Given the description of an element on the screen output the (x, y) to click on. 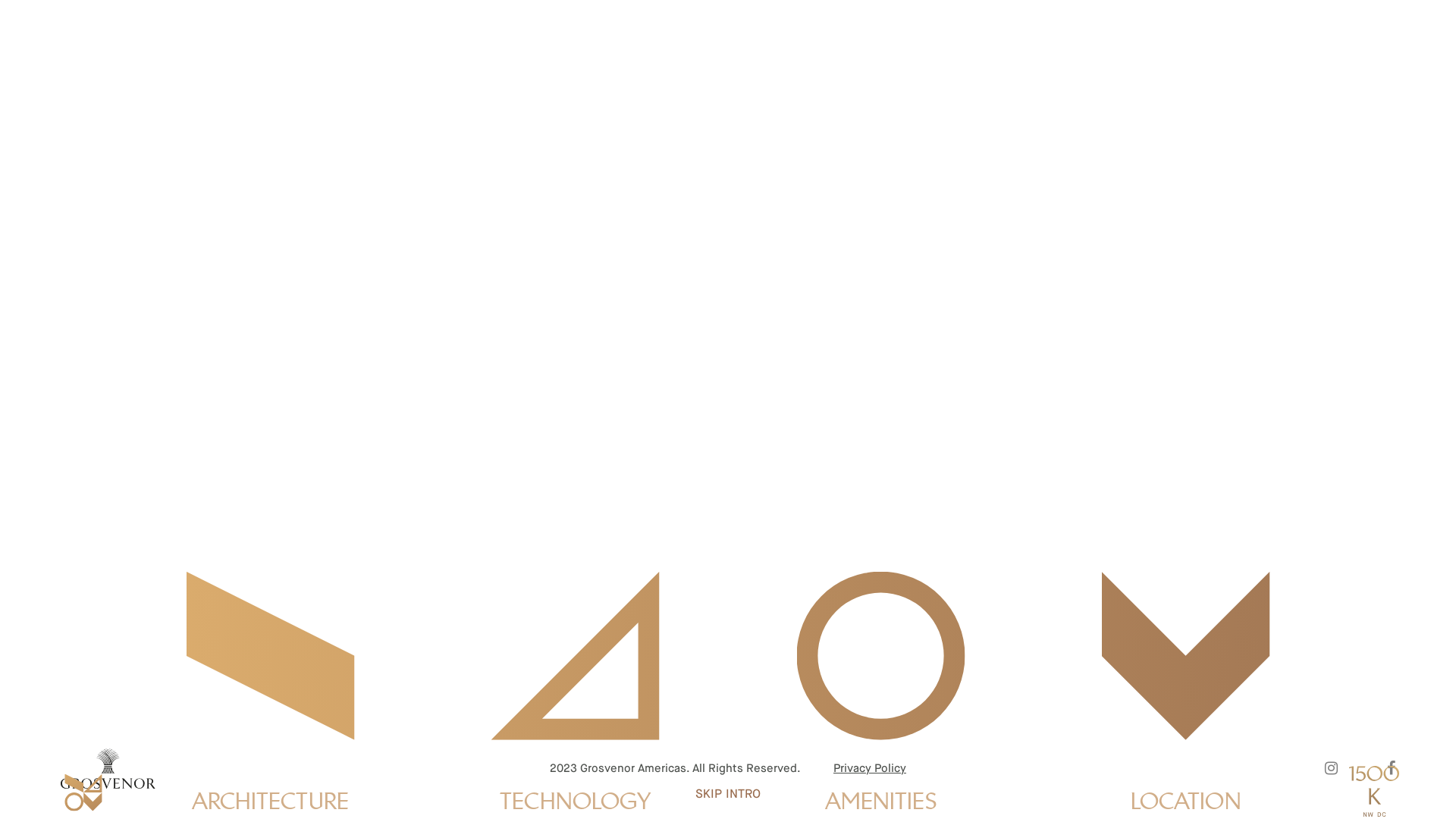
Explore 1500 K Downtown DC architecture Element type: hover (269, 655)
Privacy Policy Element type: text (869, 768)
Explore 1500 K Downtown DC technology Element type: hover (575, 655)
Explore 1500 K Downtown DC location Element type: hover (1185, 655)
Explore 1500 K Downtown DC amenities Element type: hover (880, 655)
SKIP INTRO Element type: text (727, 794)
